Given the description of an element on the screen output the (x, y) to click on. 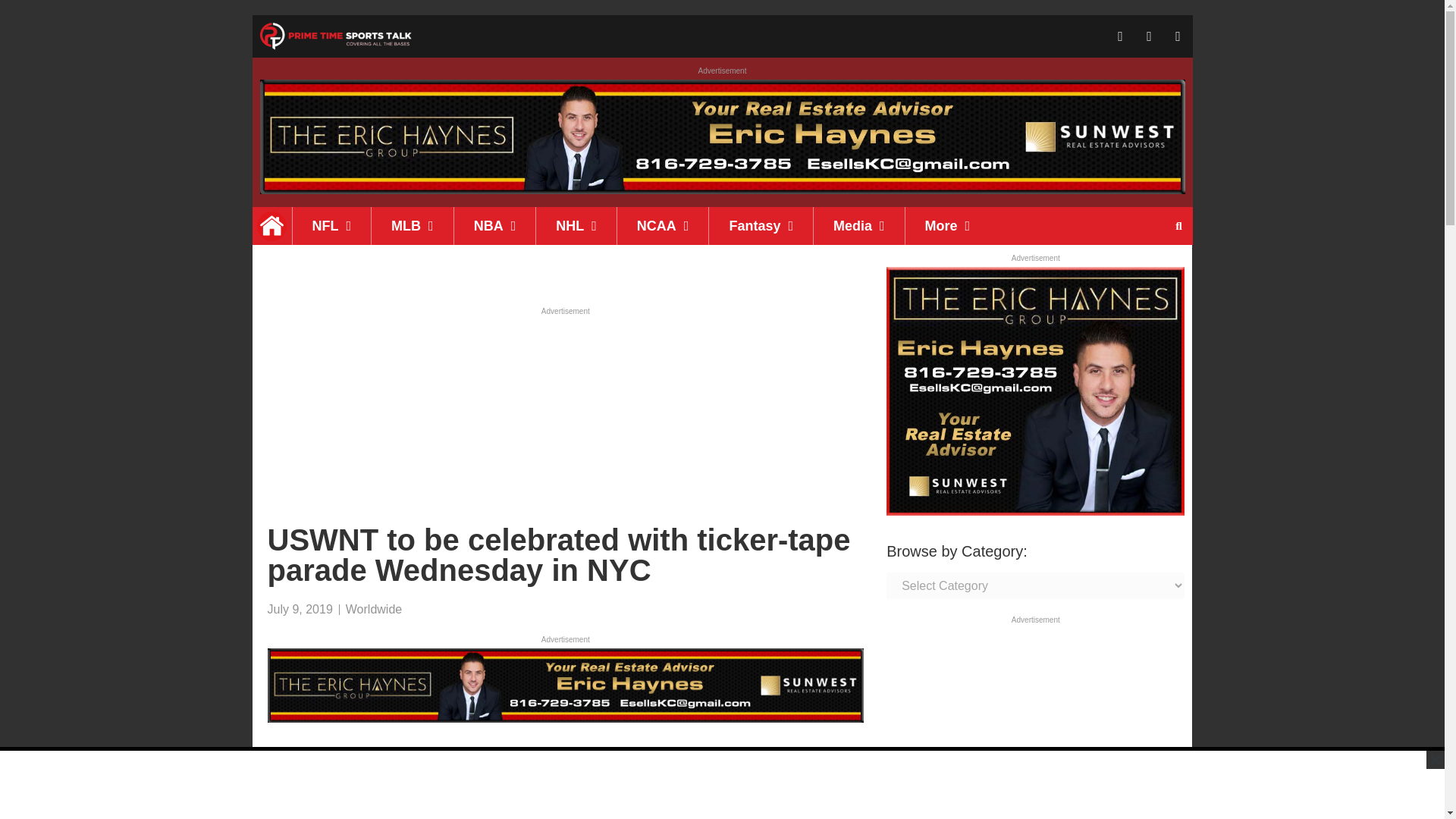
NHL (575, 225)
MLB (411, 225)
Home (271, 225)
3rd party ad content (721, 785)
NFL (331, 225)
3rd party ad content (564, 414)
NBA (494, 225)
3rd party ad content (1035, 723)
